Given the description of an element on the screen output the (x, y) to click on. 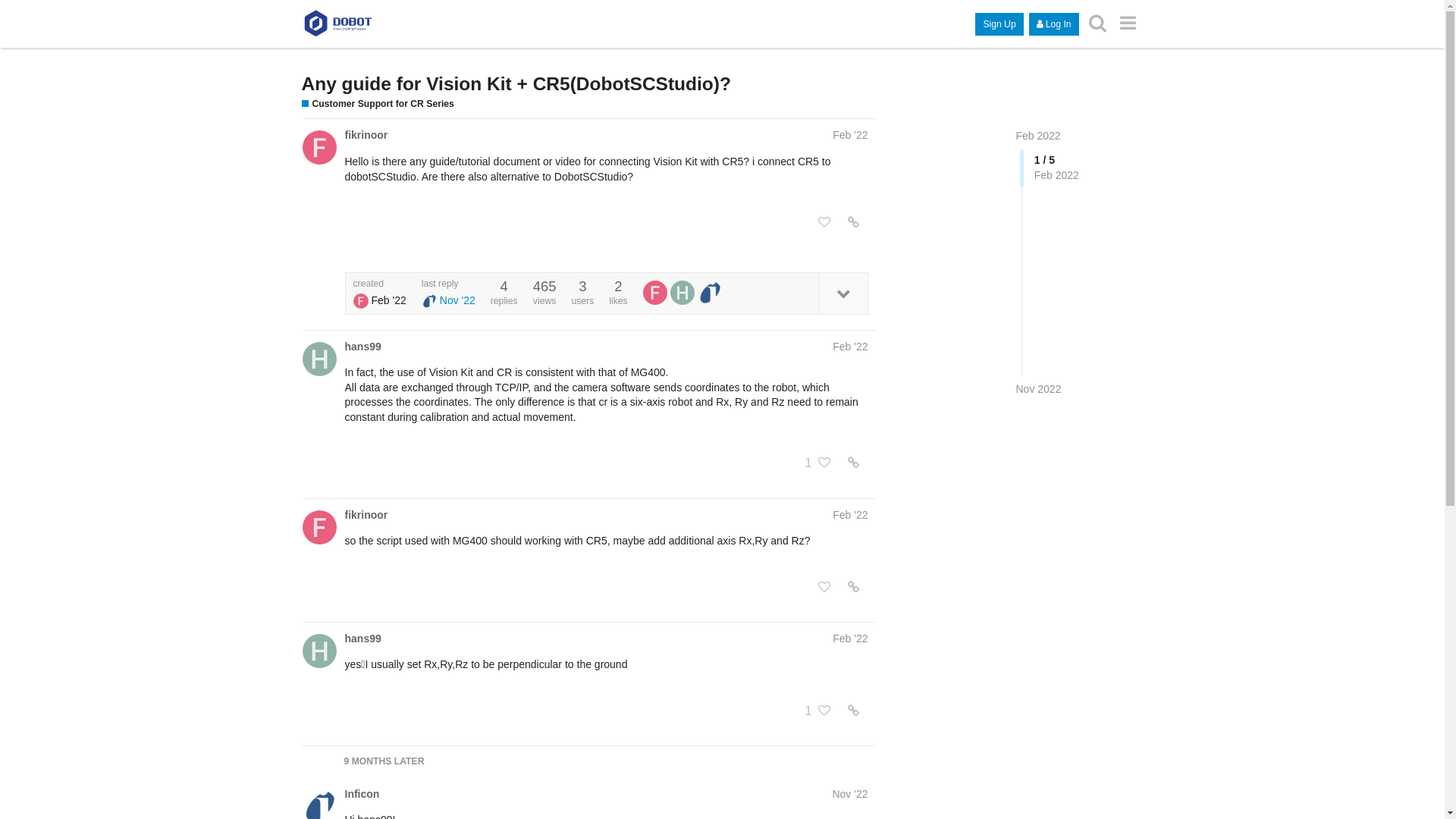
search topics, posts, users, or categories Element type: hover (1097, 22)
Muhd Fikri bin Mohd Noor Element type: hover (318, 527)
fikrinoor Element type: text (365, 134)
go to another topic list or category Element type: hover (1128, 22)
1 Element type: text (808, 462)
1 Element type: text (808, 710)
Customer Support for CR Series Element type: text (377, 103)
share a link to this post Element type: hover (853, 462)
Log In Element type: text (1054, 23)
Muhd Fikri bin Mohd Noor Element type: hover (655, 292)
Inficon Element type: text (361, 793)
hans99 Element type: text (362, 638)
xiaohanwei Element type: hover (318, 359)
Jesper Bergvall Element type: hover (428, 300)
Feb '22 Element type: text (849, 346)
Feb 2022 Element type: text (1038, 135)
toggle topic details Element type: hover (841, 293)
Muhd Fikri bin Mohd Noor Element type: hover (318, 147)
last reply
Nov '22 Element type: text (448, 293)
hans99 Element type: text (362, 346)
Nov 2022 Element type: text (1038, 389)
Feb '22 Element type: text (849, 638)
Feb '22 Element type: text (849, 514)
Muhd Fikri bin Mohd Noor Element type: hover (360, 300)
Jesper Bergvall Element type: hover (709, 292)
xiaohanwei Element type: hover (682, 292)
xiaohanwei Element type: hover (318, 650)
Sign Up Element type: text (998, 23)
share a link to this post Element type: hover (853, 586)
Feb '22 Element type: text (849, 134)
share a link to this post Element type: hover (853, 222)
Nov '22 Element type: text (849, 793)
share a link to this post Element type: hover (853, 710)
Any guide for Vision Kit + CR5(DobotSCStudio)? Element type: text (516, 83)
fikrinoor Element type: text (365, 514)
